Given the description of an element on the screen output the (x, y) to click on. 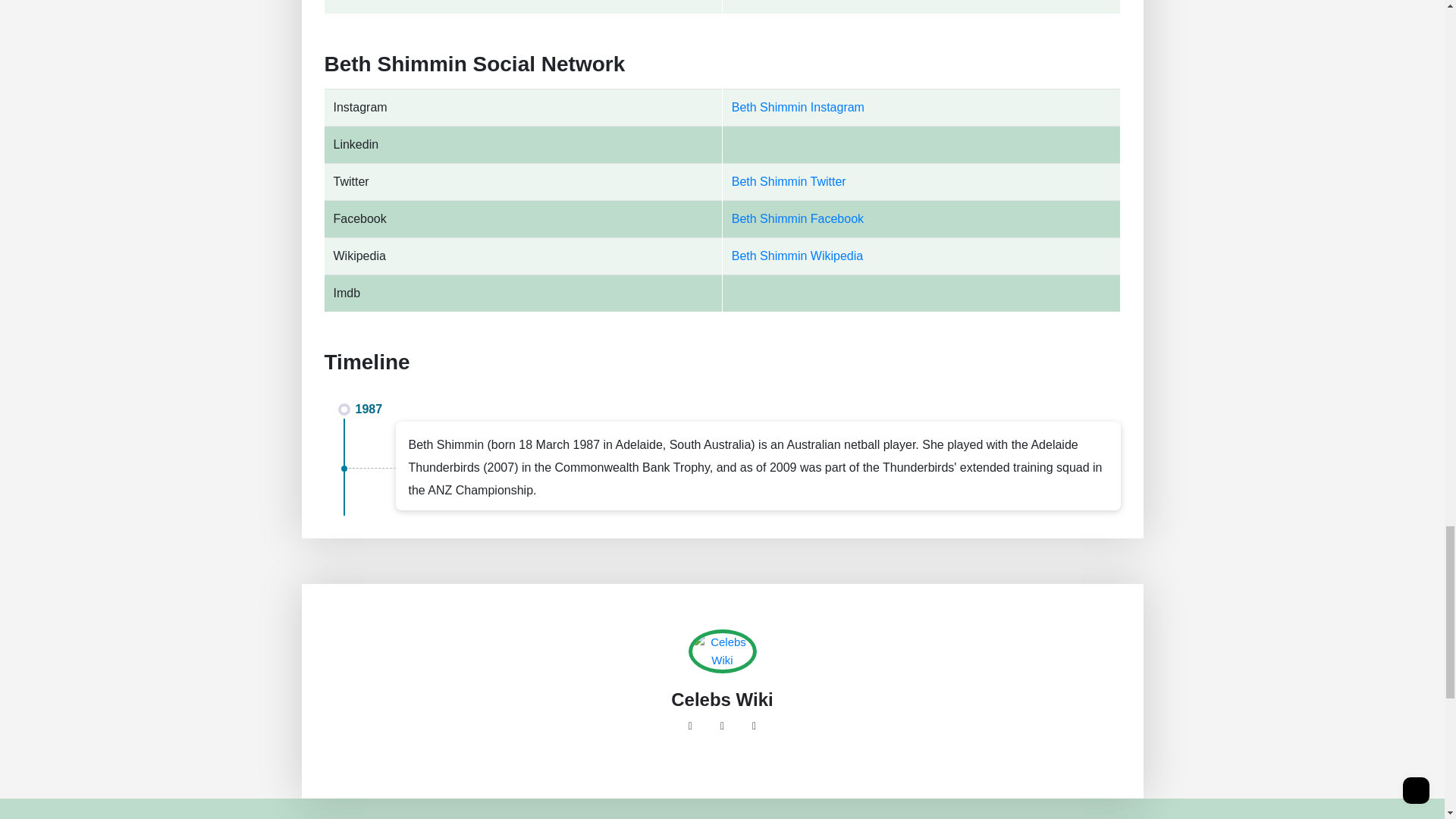
Celebs Wiki (722, 699)
Beth Shimmin Wikipedia (797, 255)
Beth Shimmin Facebook (797, 218)
Beth Shimmin Twitter (788, 181)
Beth Shimmin Instagram (798, 106)
